Given the description of an element on the screen output the (x, y) to click on. 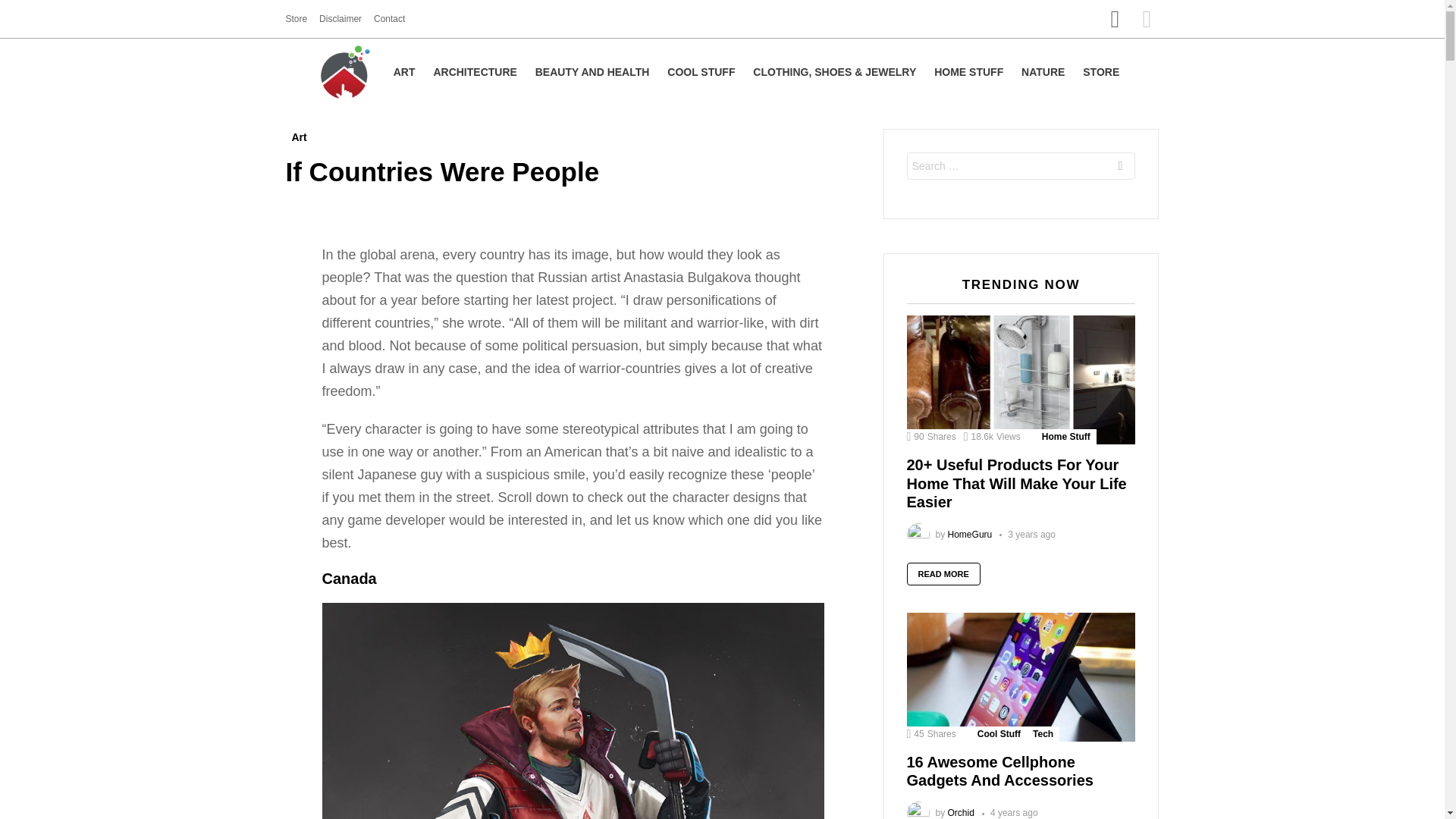
ARCHITECTURE (474, 71)
NATURE (1042, 71)
BEAUTY AND HEALTH (592, 71)
Contact (389, 18)
HOME STUFF (968, 71)
Disclaimer (339, 18)
Art (299, 136)
Store (296, 18)
COOL STUFF (700, 71)
ART (404, 71)
STORE (1100, 71)
